Given the description of an element on the screen output the (x, y) to click on. 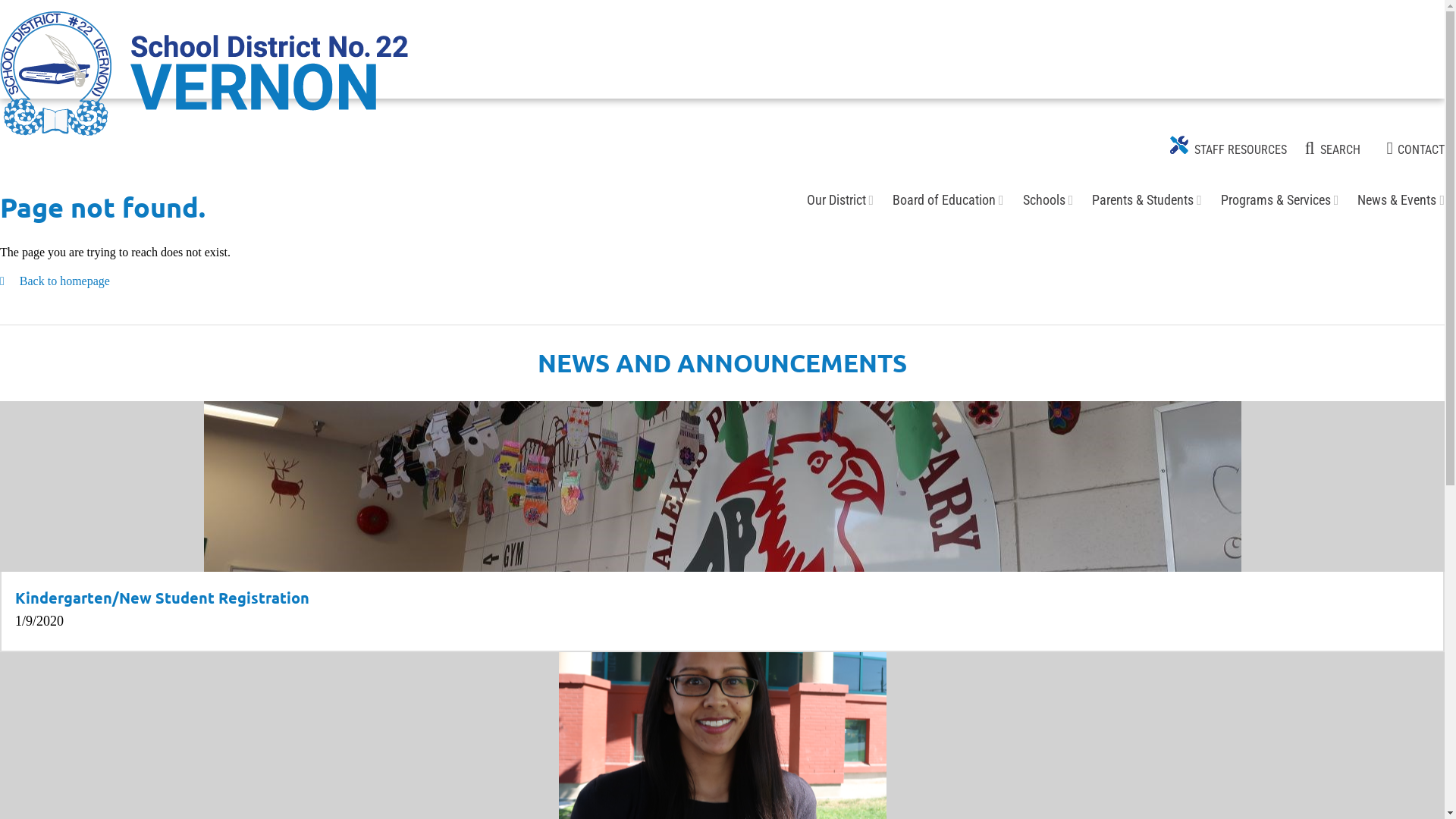
Parents & Students Element type: text (1142, 199)
Board of Education Element type: text (943, 199)
School District No. 22 Element type: hover (203, 73)
CONTACT Element type: text (1415, 149)
News & Events Element type: text (1396, 199)
Kindergarten/New Student Registration Element type: text (162, 597)
Our District Element type: text (836, 199)
Schools Element type: text (1043, 199)
Programs & Services Element type: text (1275, 199)
Back to homepage Element type: text (54, 280)
